Given the description of an element on the screen output the (x, y) to click on. 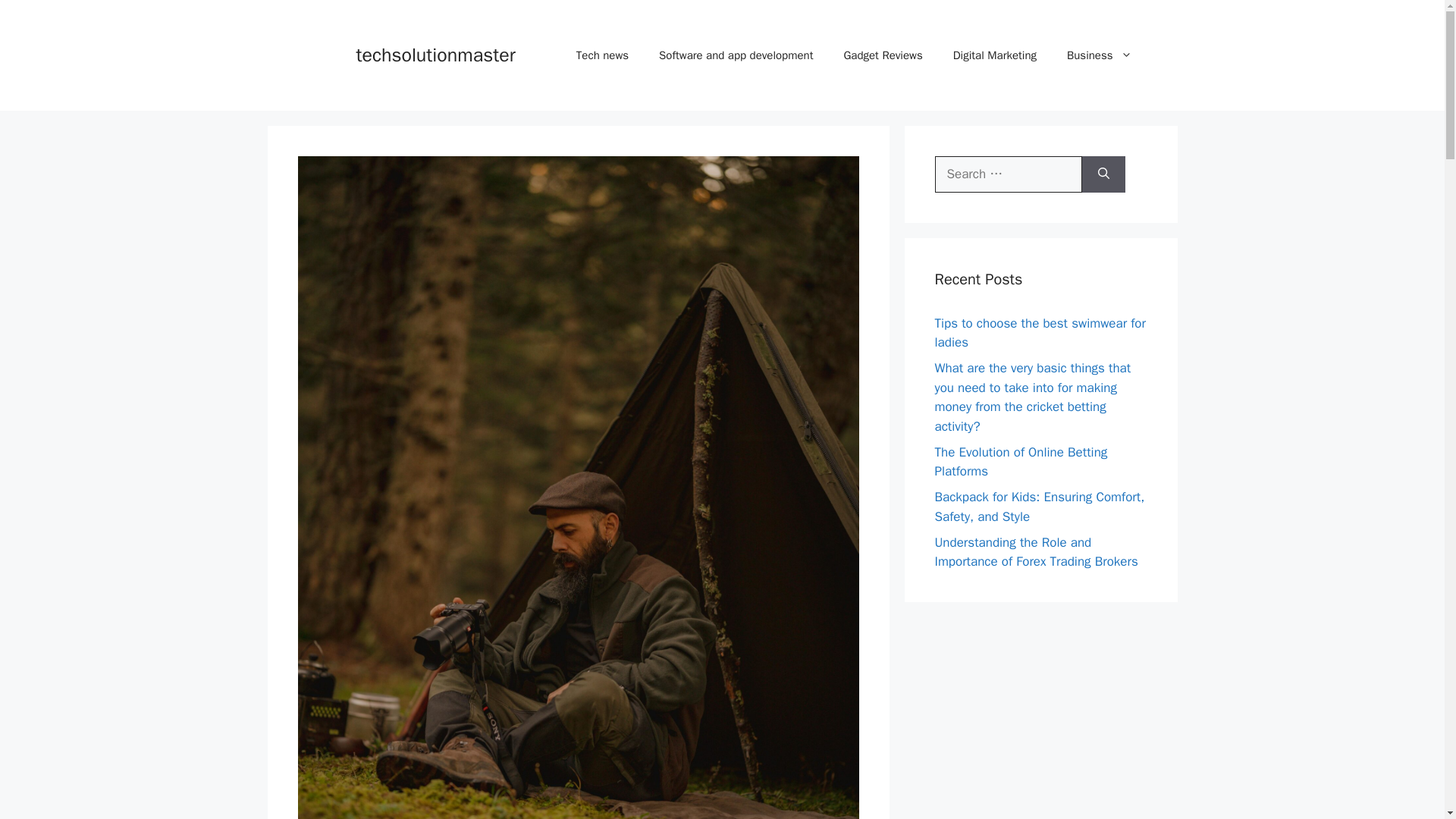
Tips to choose the best swimwear for ladies (1039, 333)
Tech news (601, 54)
The Evolution of Online Betting Platforms (1020, 461)
techsolutionmaster (435, 54)
Business (1099, 54)
Digital Marketing (994, 54)
Software and app development (735, 54)
Gadget Reviews (882, 54)
Backpack for Kids: Ensuring Comfort, Safety, and Style (1039, 506)
Search for: (1007, 174)
